Given the description of an element on the screen output the (x, y) to click on. 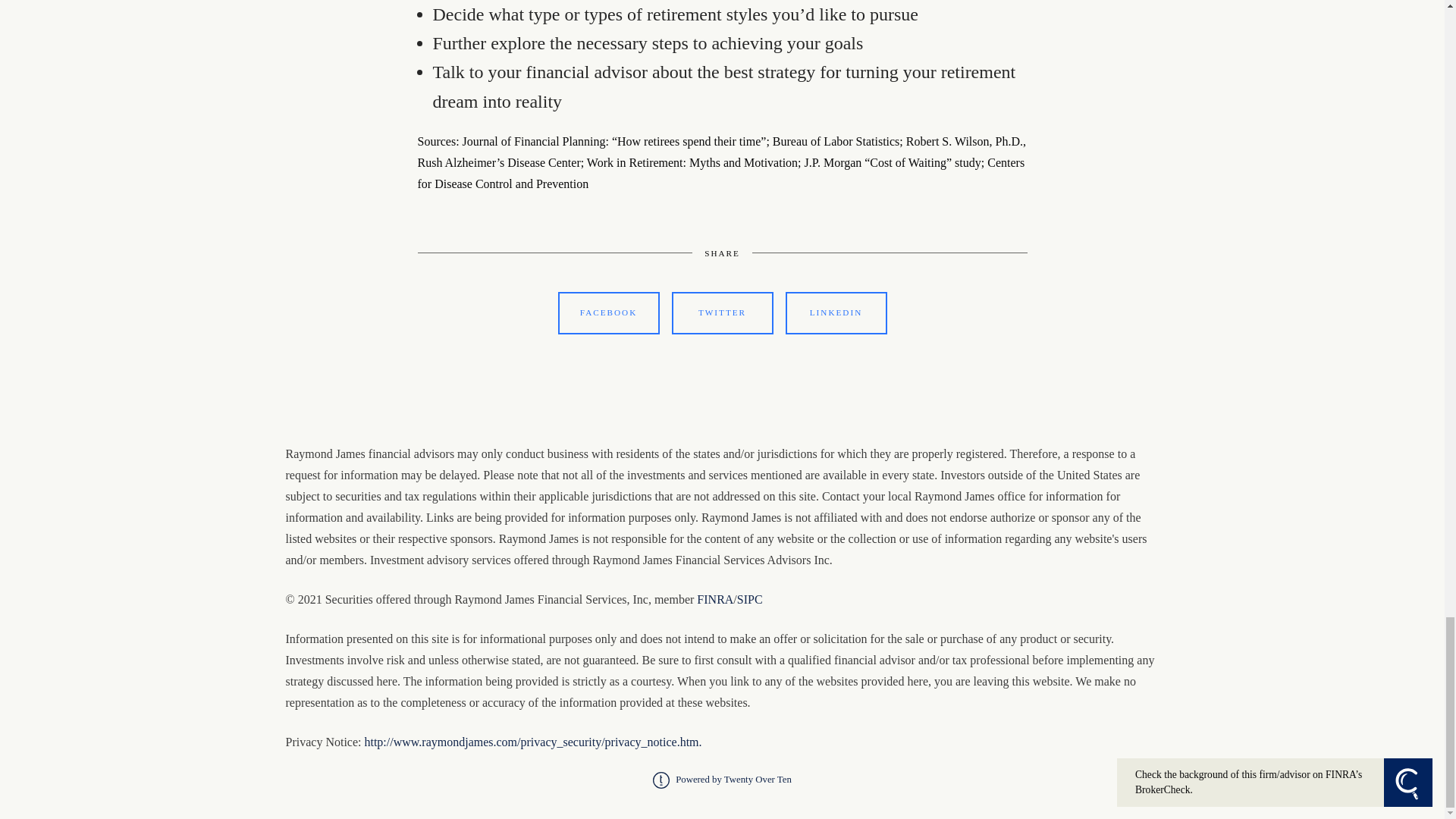
LINKEDIN (836, 312)
FINRA (715, 599)
SIPC (749, 599)
TWITTER (722, 312)
FACEBOOK (608, 312)
Powered by Twenty Over Ten (722, 778)
